Given the description of an element on the screen output the (x, y) to click on. 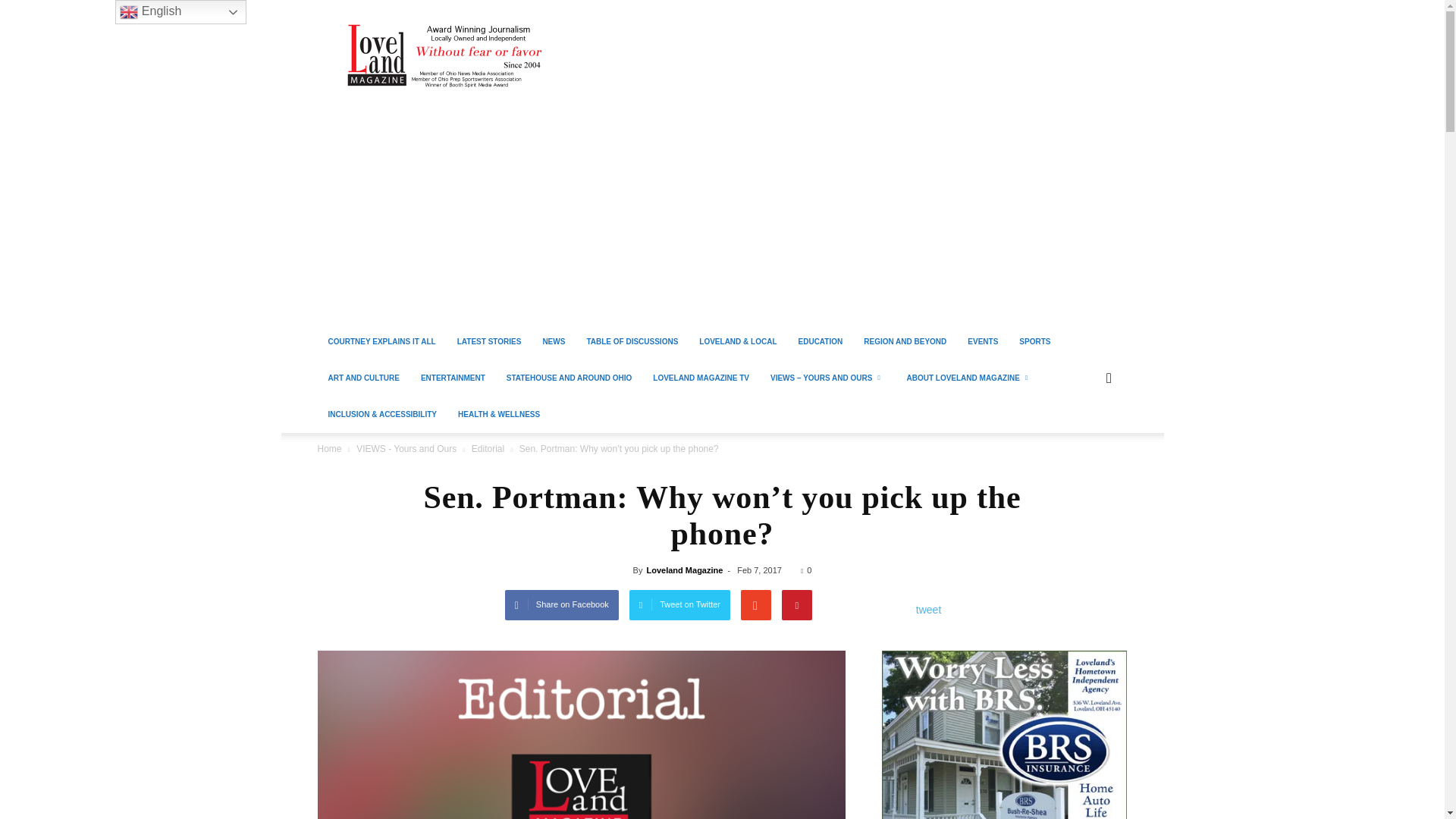
EVENTS (982, 341)
editorial (580, 734)
TABLE OF DISCUSSIONS (631, 341)
ART AND CULTURE (363, 378)
SPORTS (1035, 341)
EDUCATION (820, 341)
View all posts in VIEWS - Yours and Ours (406, 448)
NEWS (553, 341)
View all posts in Editorial (487, 448)
LATEST STORIES (489, 341)
